Given the description of an element on the screen output the (x, y) to click on. 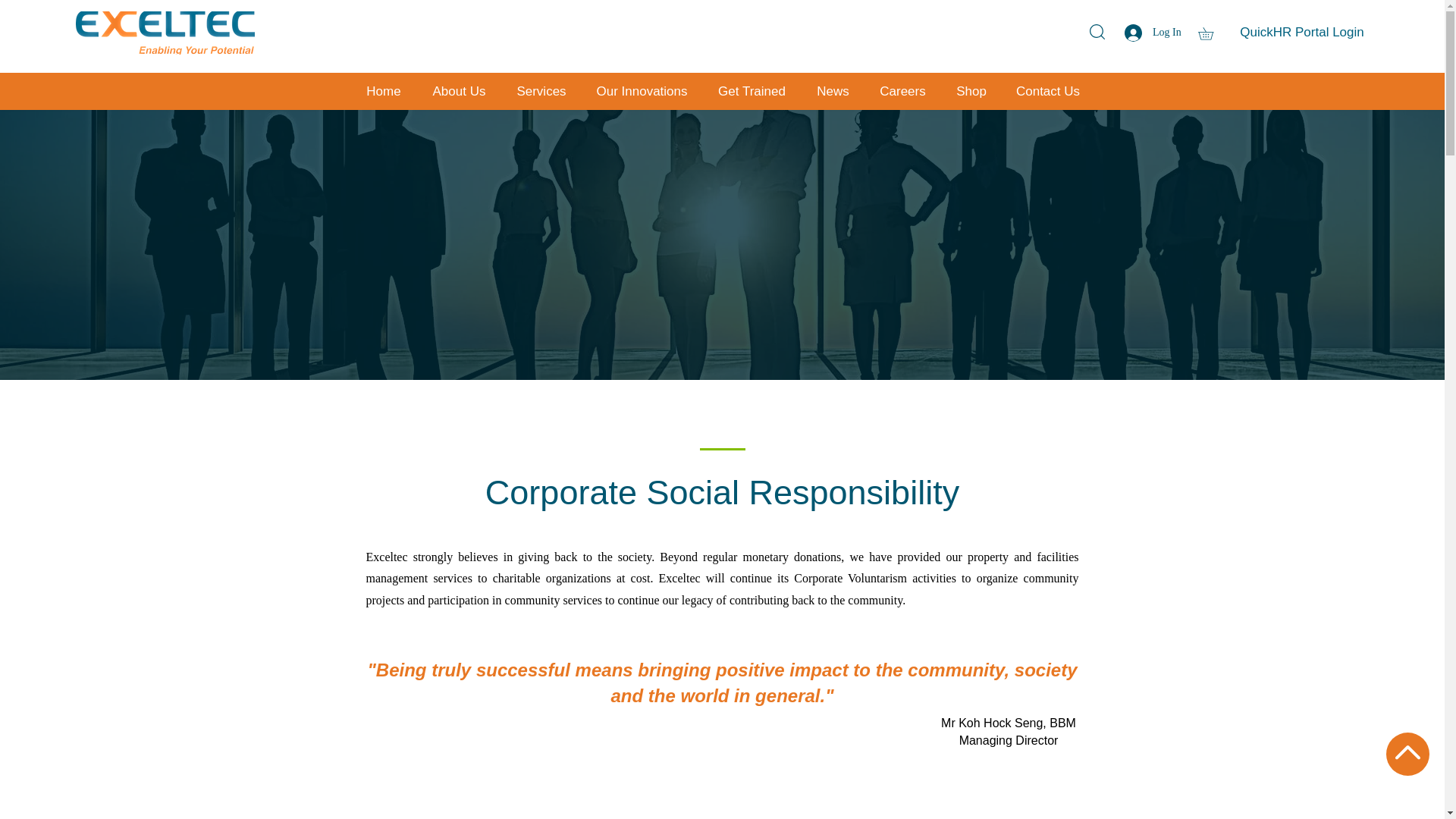
Careers (902, 91)
QuickHR Portal Login (1301, 31)
exceltec-logo.png (164, 32)
Shop (970, 91)
Contact Us (1047, 91)
Log In (1149, 31)
Home (383, 91)
Get Trained (751, 91)
Our Innovations (640, 91)
